Given the description of an element on the screen output the (x, y) to click on. 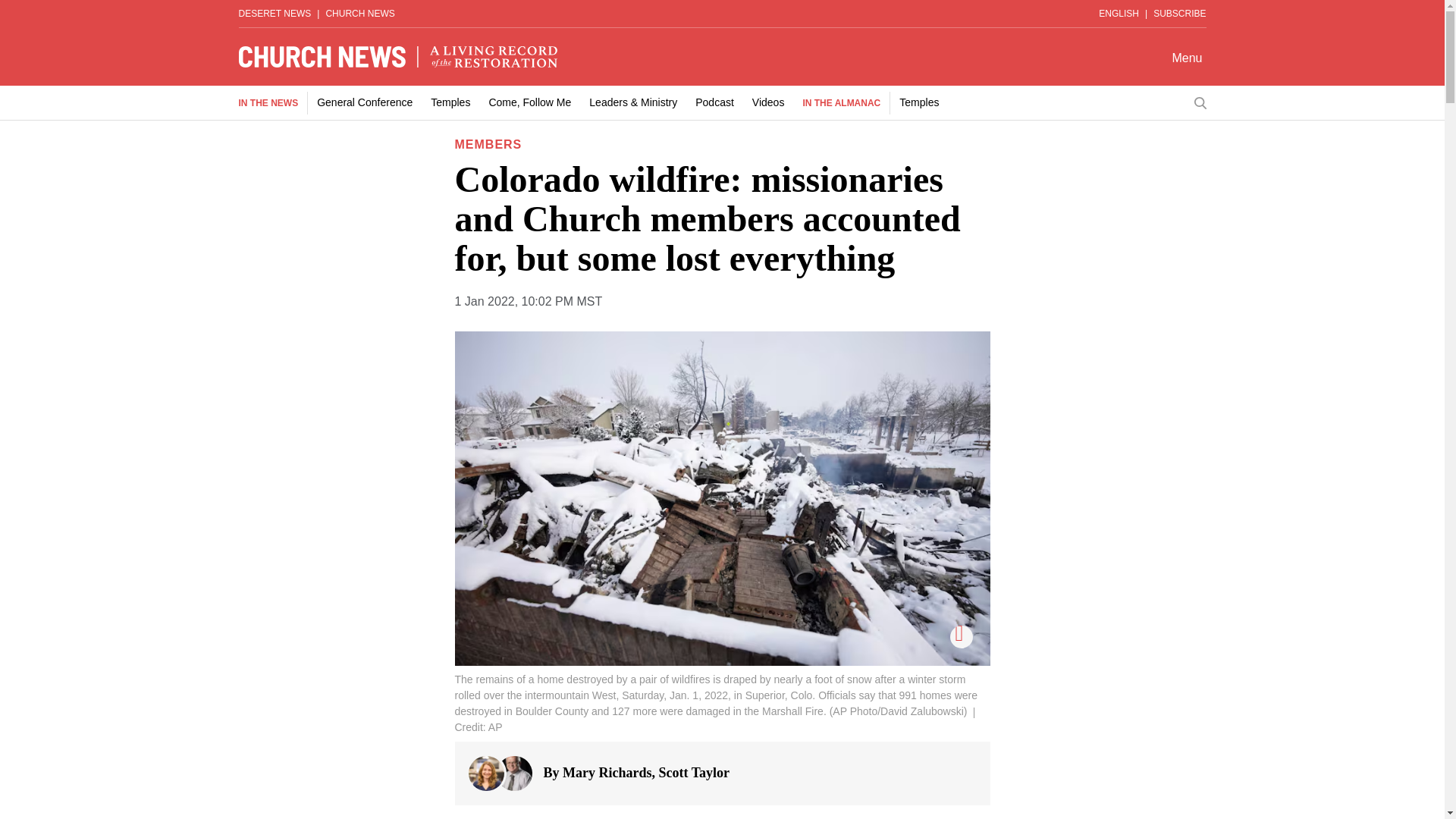
Temples (450, 102)
General Conference (364, 102)
CHURCH NEWS (359, 13)
DESERET NEWS (274, 13)
Videos (768, 102)
SUBSCRIBE (1179, 13)
MEMBERS (488, 144)
Temples (919, 102)
Podcast (714, 102)
Come, Follow Me (528, 102)
Mary Richards (606, 772)
Scott Taylor (693, 772)
